Given the description of an element on the screen output the (x, y) to click on. 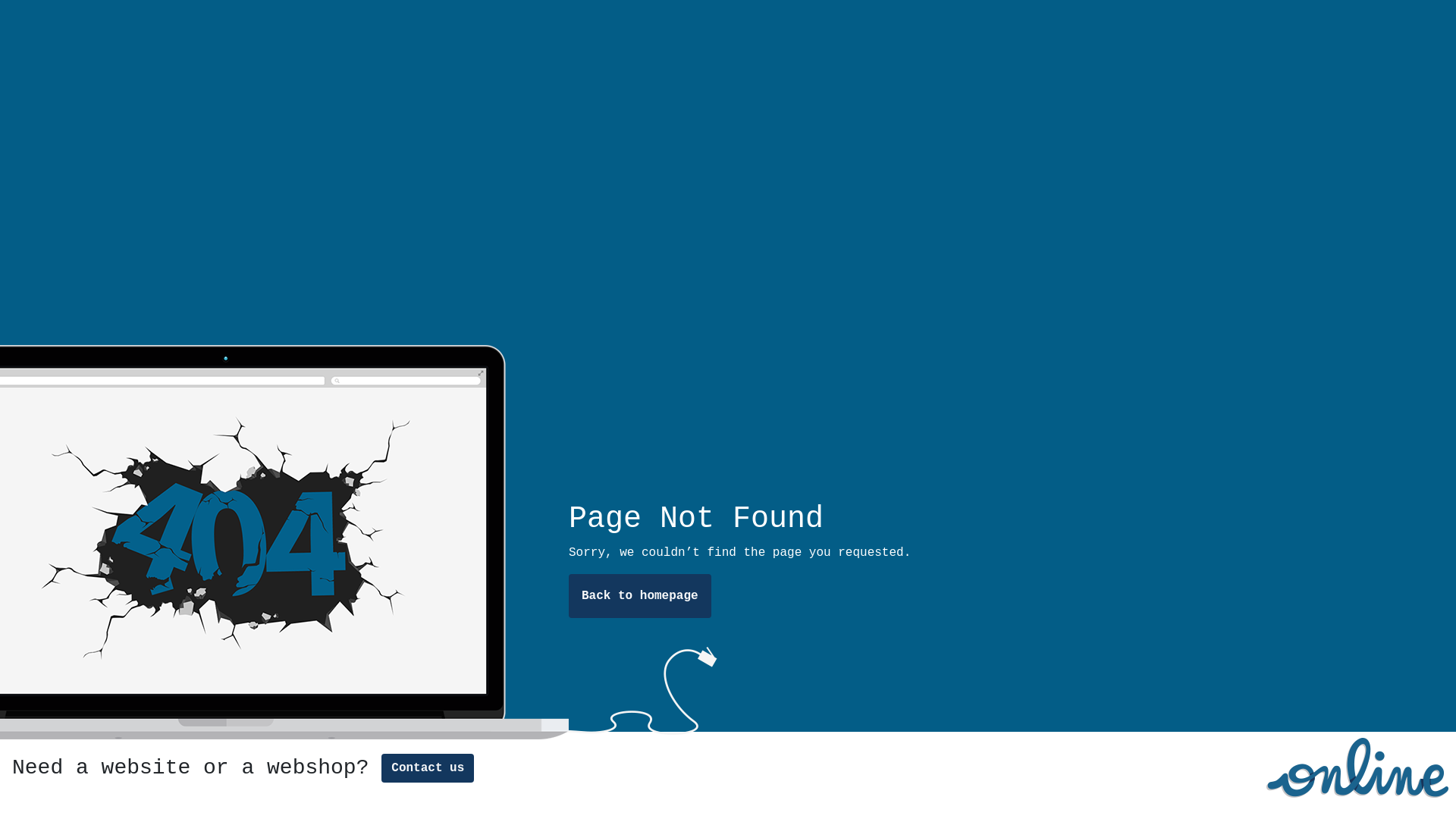
Back to homepage Element type: text (639, 596)
Contact us Element type: text (427, 767)
